Given the description of an element on the screen output the (x, y) to click on. 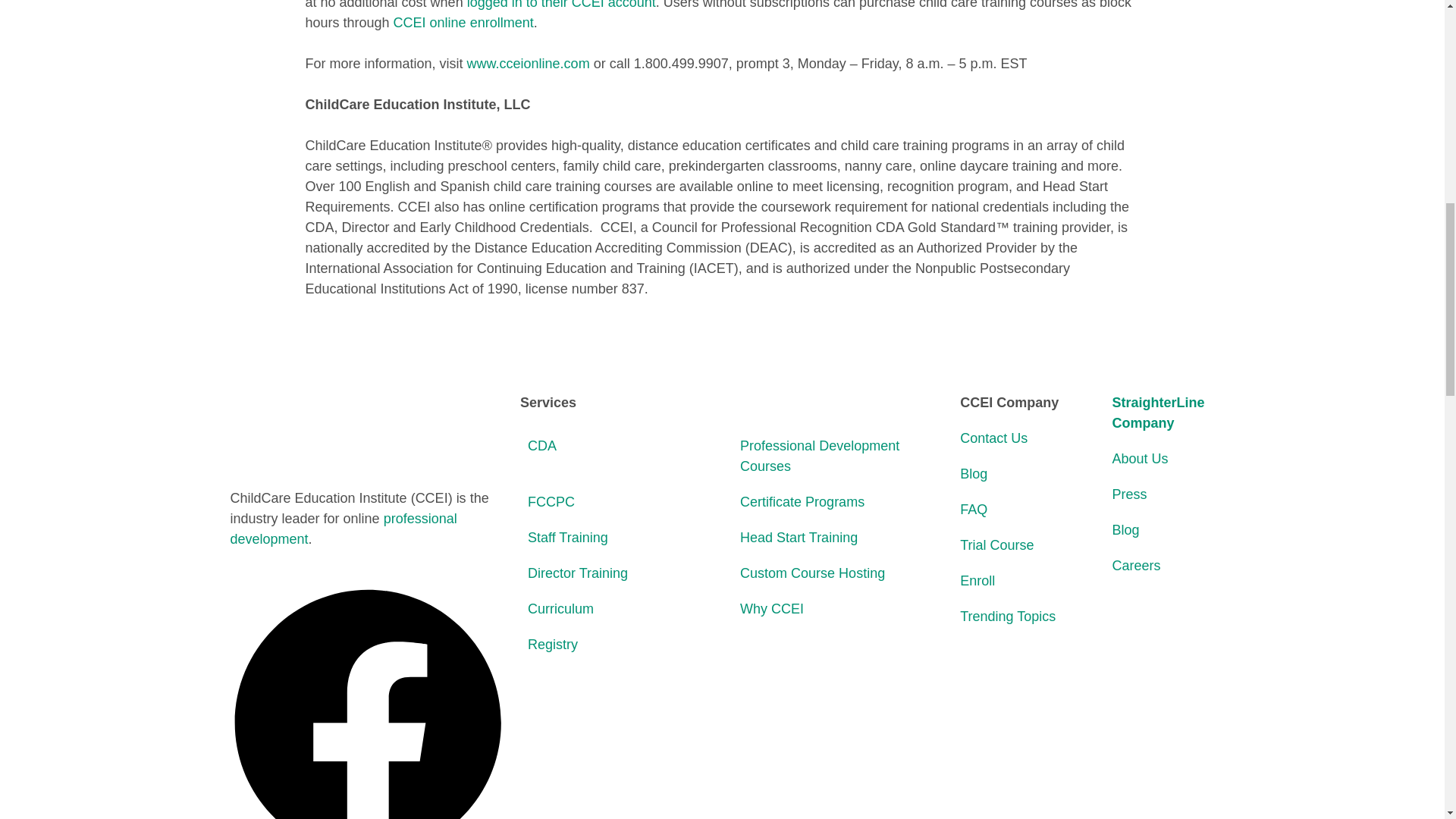
www.cceionline.edu (528, 63)
CCEI online enrollment (463, 22)
logged in to their CCEI account (561, 4)
